Given the description of an element on the screen output the (x, y) to click on. 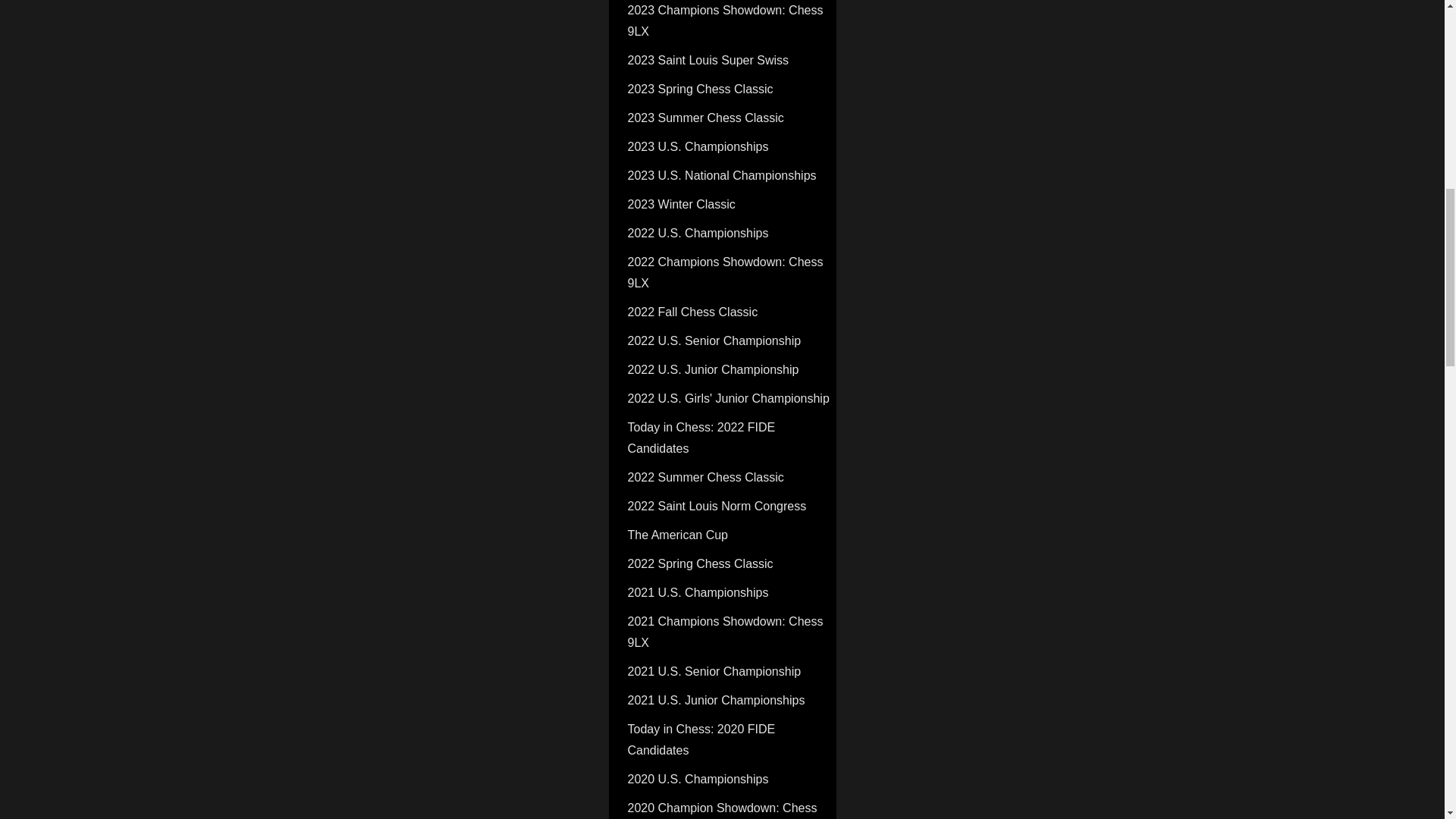
2023 U.S. Championships (729, 146)
2023 Spring Chess Classic (729, 89)
2023 Saint Louis Super Swiss (729, 60)
2023 Champions Showdown: Chess 9LX (729, 22)
2023 Summer Chess Classic (729, 118)
